Given the description of an element on the screen output the (x, y) to click on. 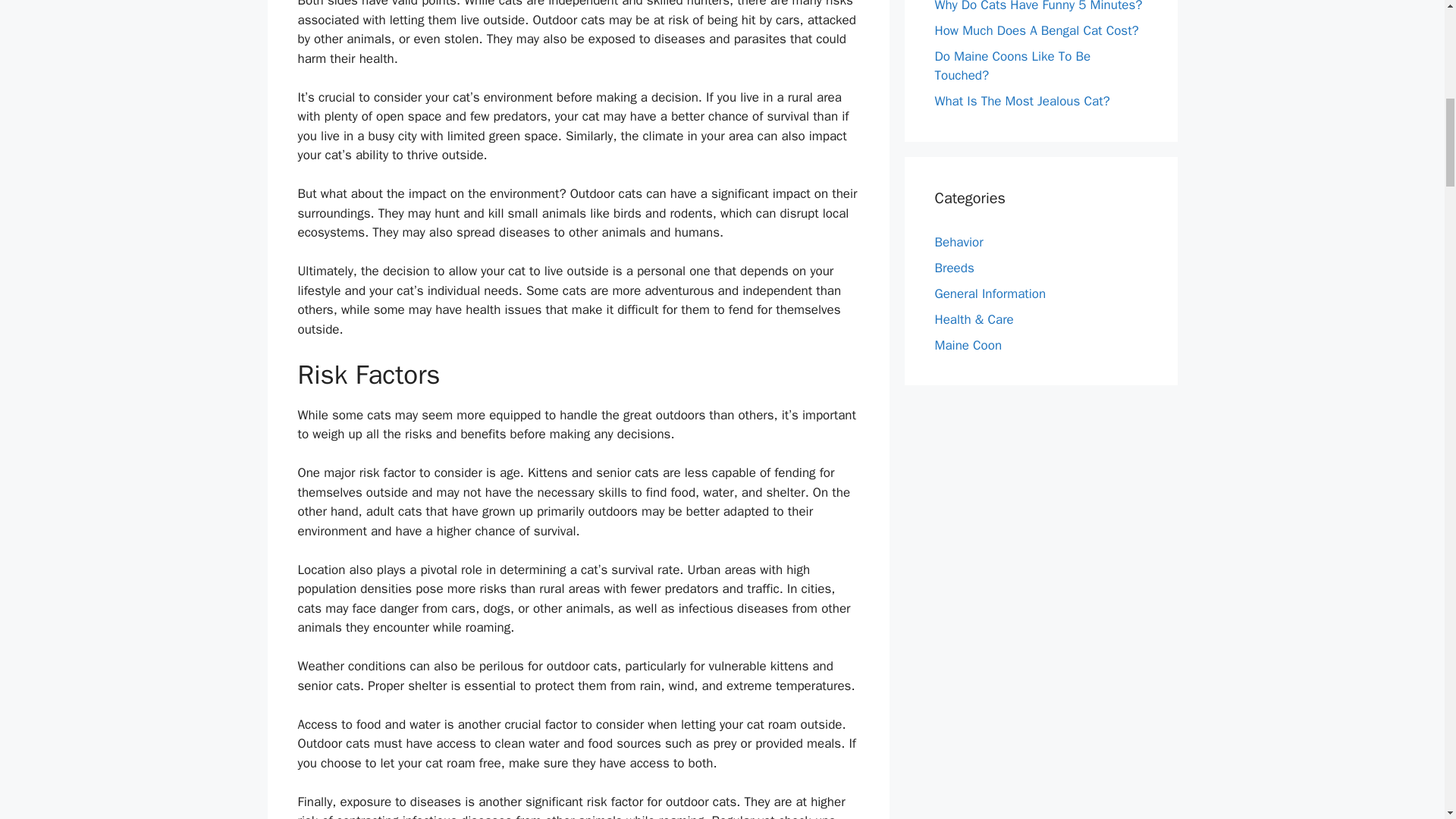
Breeds (954, 268)
How Much Does A Bengal Cat Cost? (1036, 30)
What Is The Most Jealous Cat? (1021, 100)
Do Maine Coons Like To Be Touched? (1012, 66)
Why Do Cats Have Funny 5 Minutes? (1037, 6)
Scroll back to top (1406, 720)
Behavior (958, 242)
General Information (989, 293)
